Given the description of an element on the screen output the (x, y) to click on. 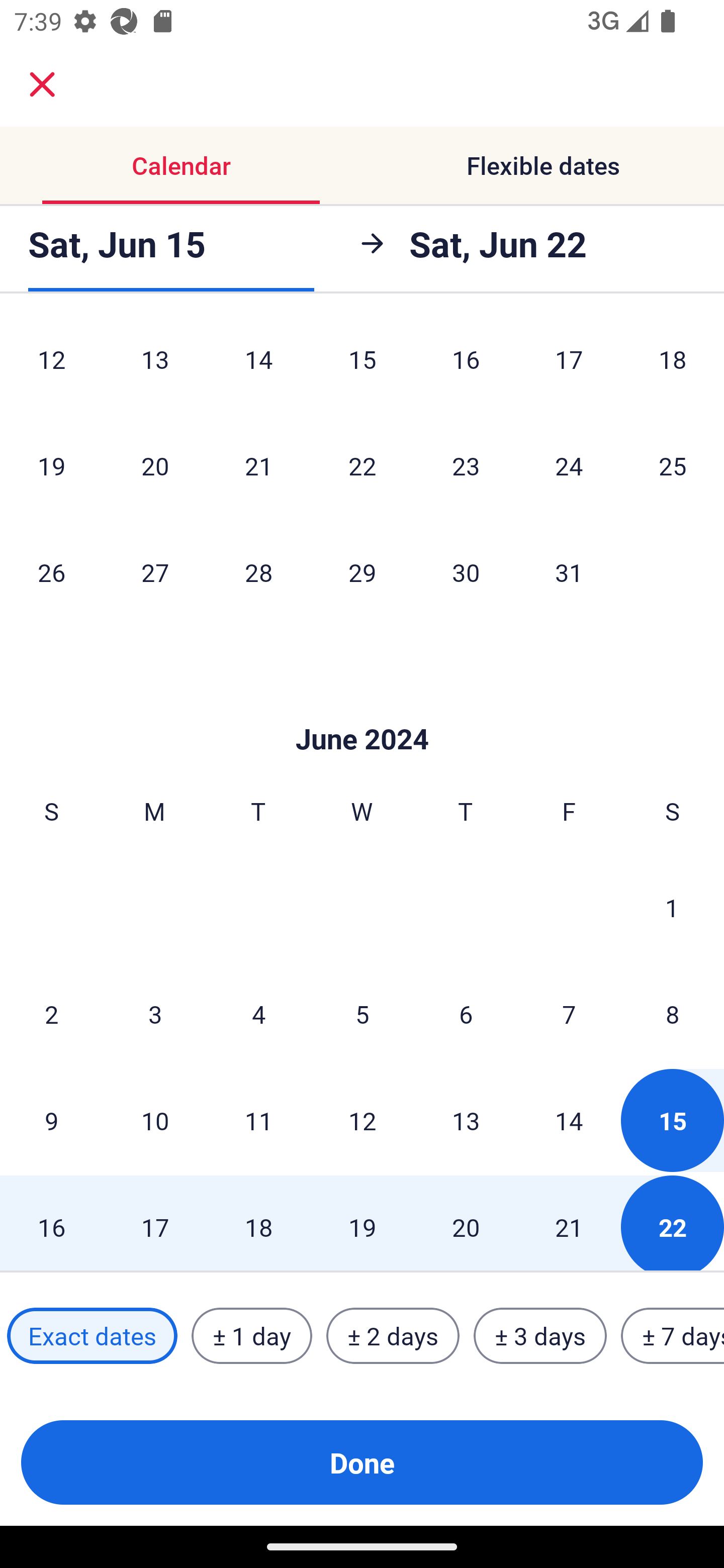
close. (42, 84)
Flexible dates (542, 164)
12 Sunday, May 12, 2024 (51, 365)
13 Monday, May 13, 2024 (155, 365)
14 Tuesday, May 14, 2024 (258, 365)
15 Wednesday, May 15, 2024 (362, 365)
16 Thursday, May 16, 2024 (465, 365)
17 Friday, May 17, 2024 (569, 365)
18 Saturday, May 18, 2024 (672, 365)
19 Sunday, May 19, 2024 (51, 465)
20 Monday, May 20, 2024 (155, 465)
21 Tuesday, May 21, 2024 (258, 465)
22 Wednesday, May 22, 2024 (362, 465)
23 Thursday, May 23, 2024 (465, 465)
24 Friday, May 24, 2024 (569, 465)
25 Saturday, May 25, 2024 (672, 465)
26 Sunday, May 26, 2024 (51, 572)
27 Monday, May 27, 2024 (155, 572)
28 Tuesday, May 28, 2024 (258, 572)
29 Wednesday, May 29, 2024 (362, 572)
30 Thursday, May 30, 2024 (465, 572)
31 Friday, May 31, 2024 (569, 572)
Skip to Done (362, 708)
1 Saturday, June 1, 2024 (672, 907)
2 Sunday, June 2, 2024 (51, 1013)
3 Monday, June 3, 2024 (155, 1013)
4 Tuesday, June 4, 2024 (258, 1013)
5 Wednesday, June 5, 2024 (362, 1013)
6 Thursday, June 6, 2024 (465, 1013)
7 Friday, June 7, 2024 (569, 1013)
8 Saturday, June 8, 2024 (672, 1013)
9 Sunday, June 9, 2024 (51, 1120)
10 Monday, June 10, 2024 (155, 1120)
11 Tuesday, June 11, 2024 (258, 1120)
12 Wednesday, June 12, 2024 (362, 1120)
13 Thursday, June 13, 2024 (465, 1120)
14 Friday, June 14, 2024 (569, 1120)
Exact dates (92, 1335)
± 1 day (251, 1335)
± 2 days (392, 1335)
± 3 days (539, 1335)
± 7 days (672, 1335)
Done (361, 1462)
